Given the description of an element on the screen output the (x, y) to click on. 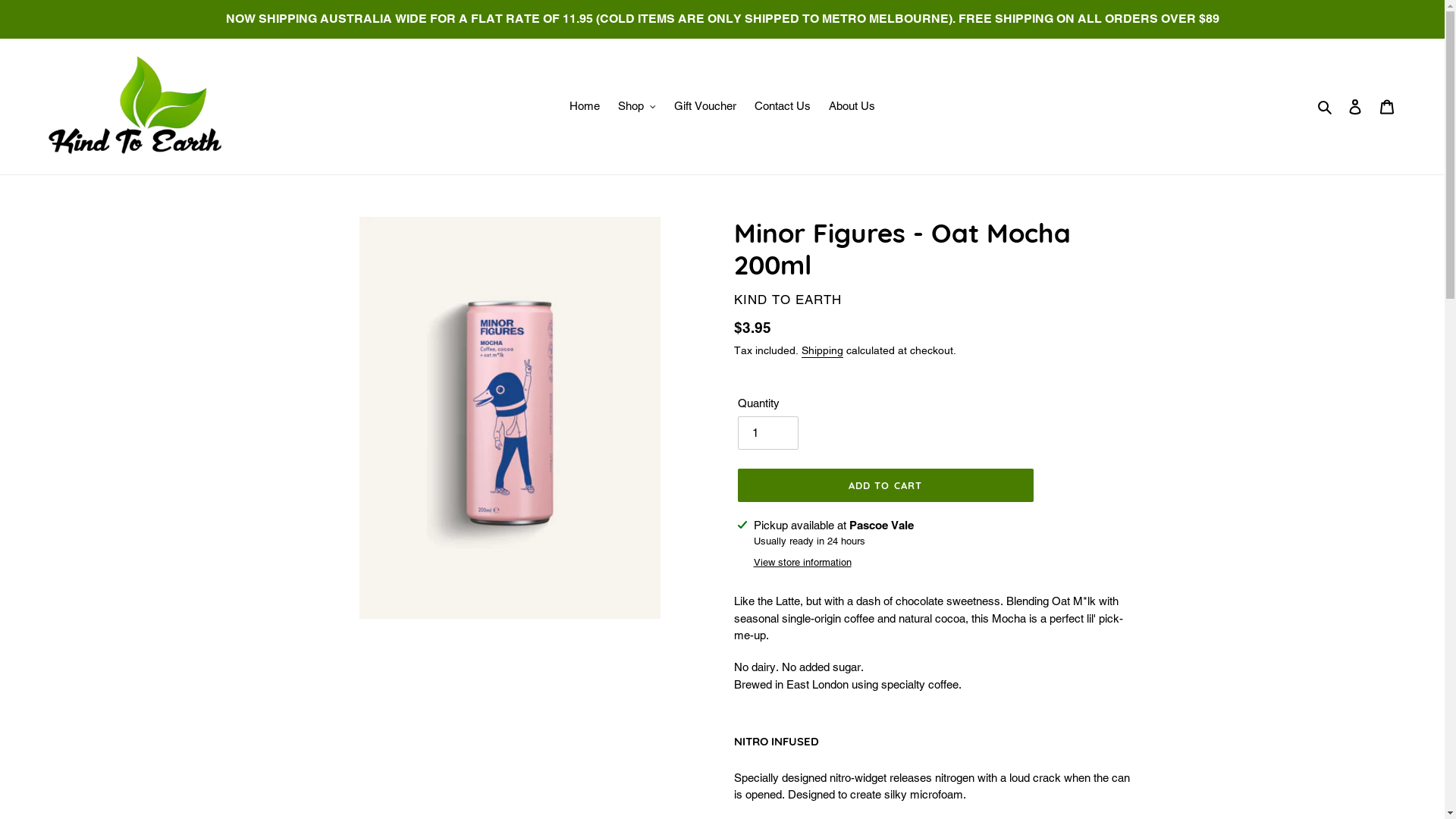
Log in Element type: text (1355, 106)
Shipping Element type: text (821, 350)
ADD TO CART Element type: text (884, 485)
Home Element type: text (584, 106)
Cart Element type: text (1386, 106)
View store information Element type: text (802, 562)
About Us Element type: text (851, 106)
Contact Us Element type: text (782, 106)
Search Element type: text (1325, 106)
Shop Element type: text (636, 106)
Gift Voucher Element type: text (704, 106)
